Given the description of an element on the screen output the (x, y) to click on. 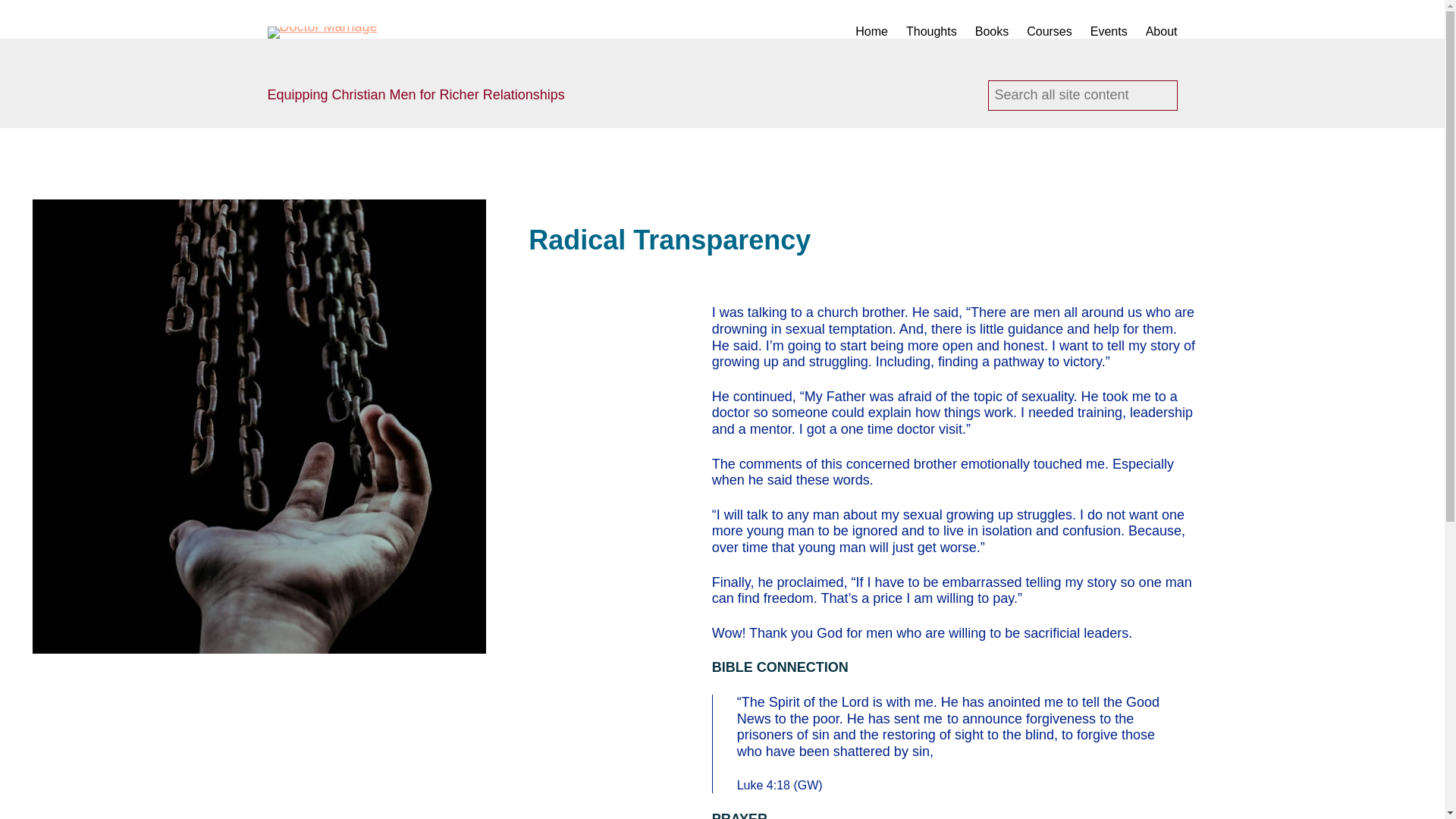
Courses (1048, 31)
Events (1108, 31)
Home (872, 31)
Books (992, 31)
About (1161, 31)
About (1161, 31)
Thoughts (930, 31)
